Given the description of an element on the screen output the (x, y) to click on. 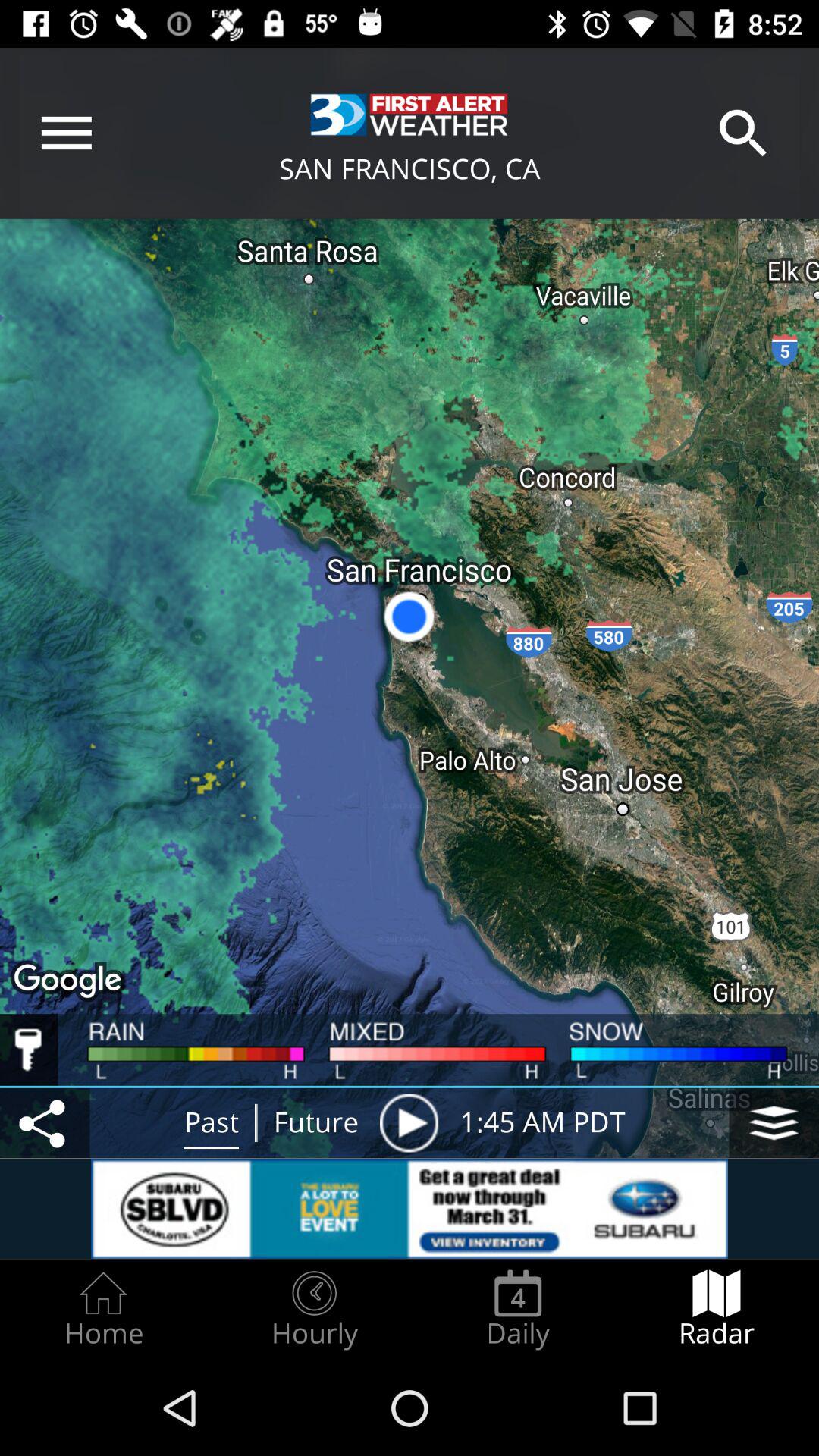
weather key (29, 1049)
